Given the description of an element on the screen output the (x, y) to click on. 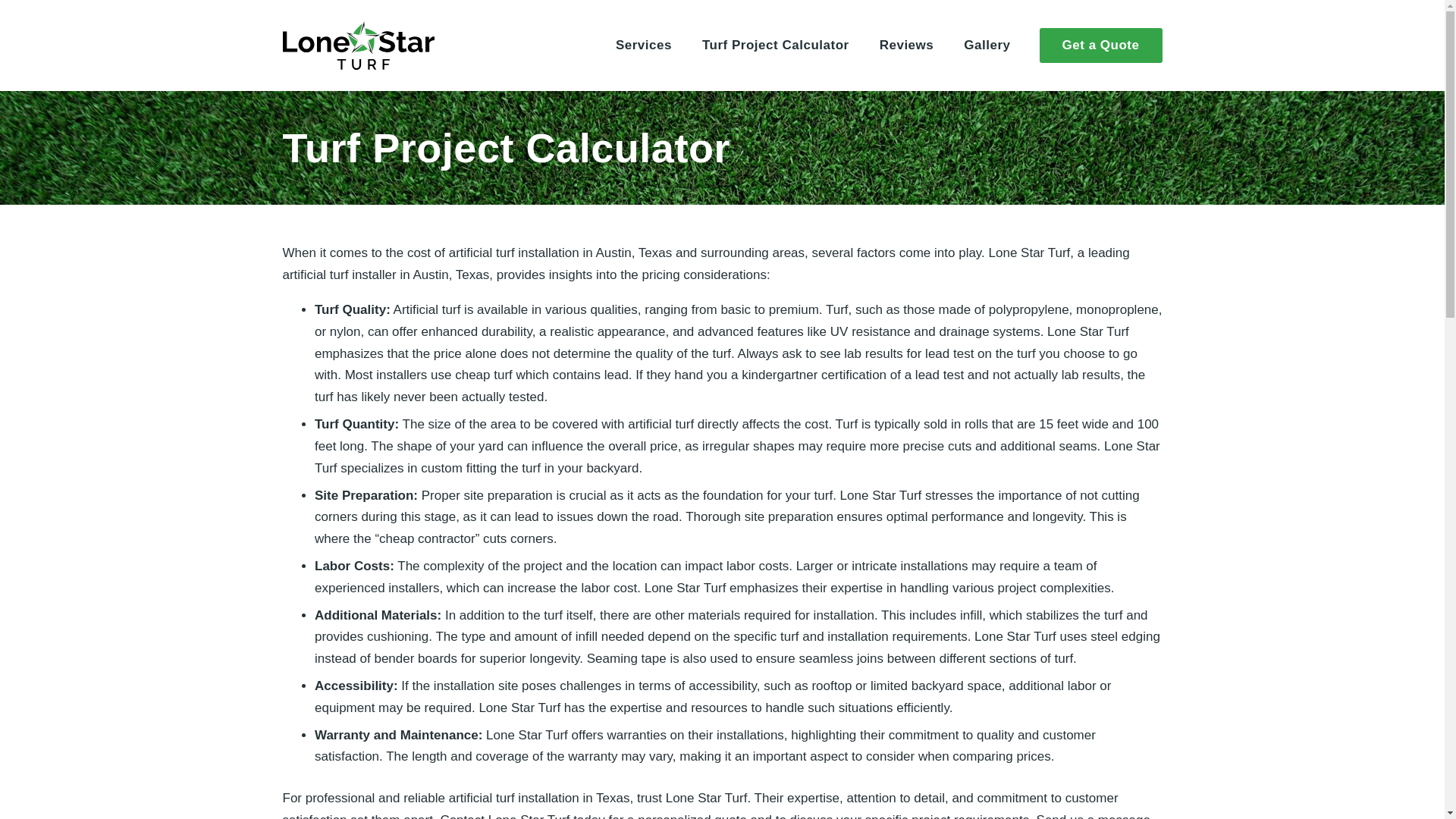
Get a Quote (1100, 45)
Services (643, 45)
Turf Project Calculator (775, 45)
Reviews (906, 45)
Gallery (994, 45)
